Given the description of an element on the screen output the (x, y) to click on. 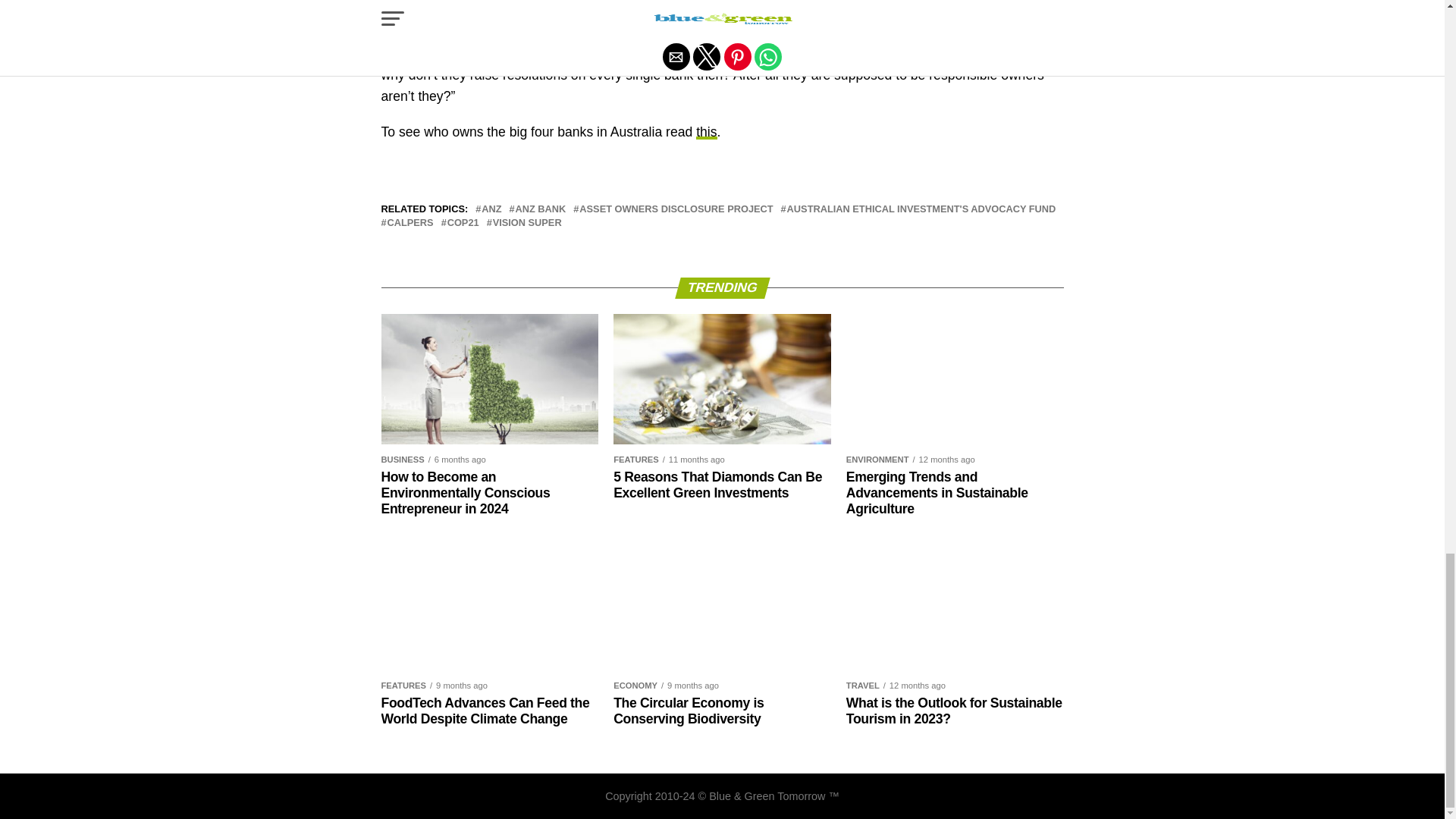
VISION SUPER (527, 223)
ANZ BANK (540, 209)
ASSET OWNERS DISCLOSURE PROJECT (676, 209)
COP21 (462, 223)
ANZ (490, 209)
CALPERS (409, 223)
this (705, 131)
AUSTRALIAN ETHICAL INVESTMENT'S ADVOCACY FUND (922, 209)
